Given the description of an element on the screen output the (x, y) to click on. 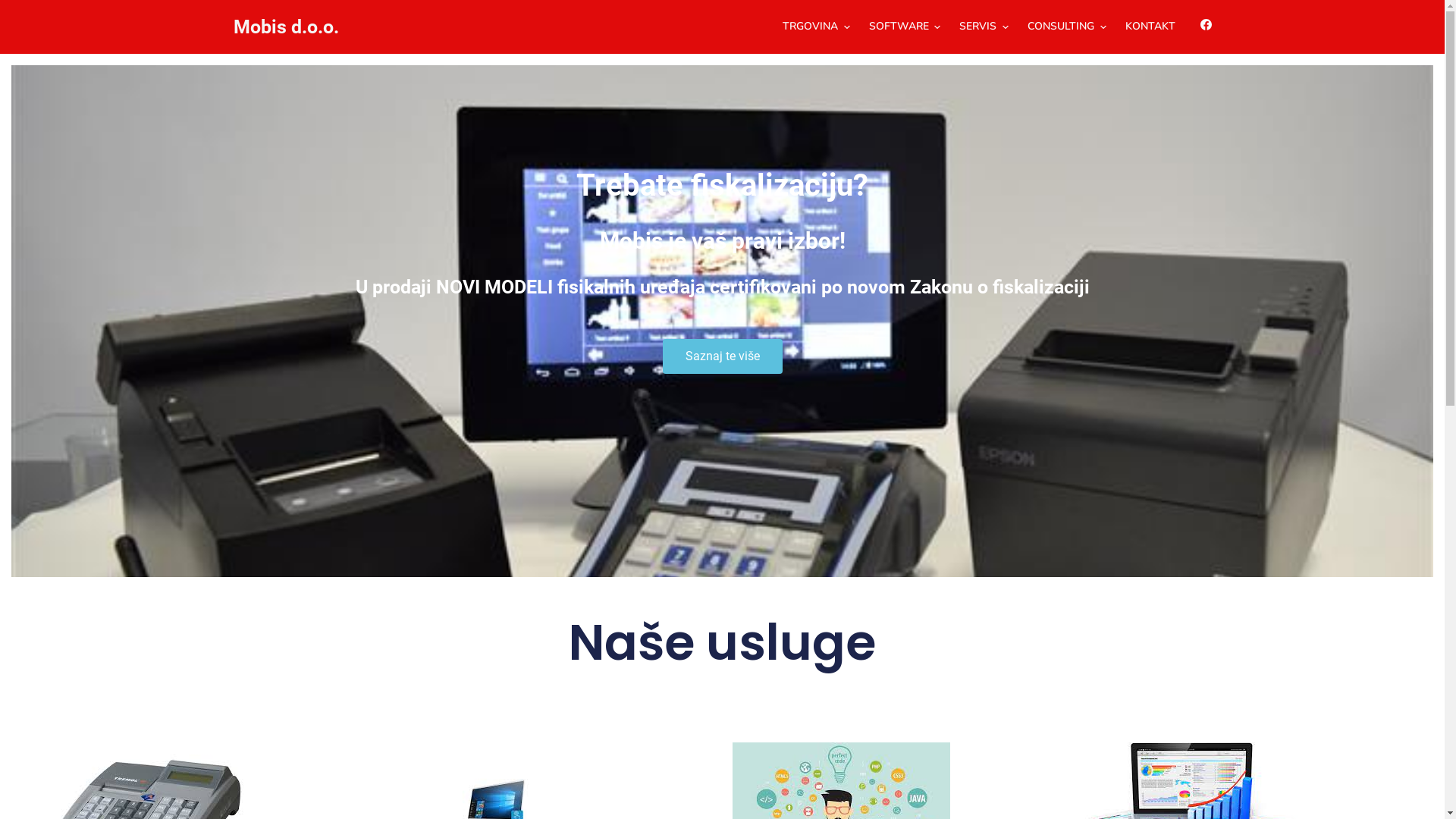
SERVIS Element type: text (984, 26)
Skip to content Element type: text (15, 7)
Mobis d.o.o. Element type: text (285, 26)
KONTAKT Element type: text (1150, 26)
TRGOVINA Element type: text (815, 26)
CONSULTING Element type: text (1067, 26)
SOFTWARE Element type: text (904, 26)
